Given the description of an element on the screen output the (x, y) to click on. 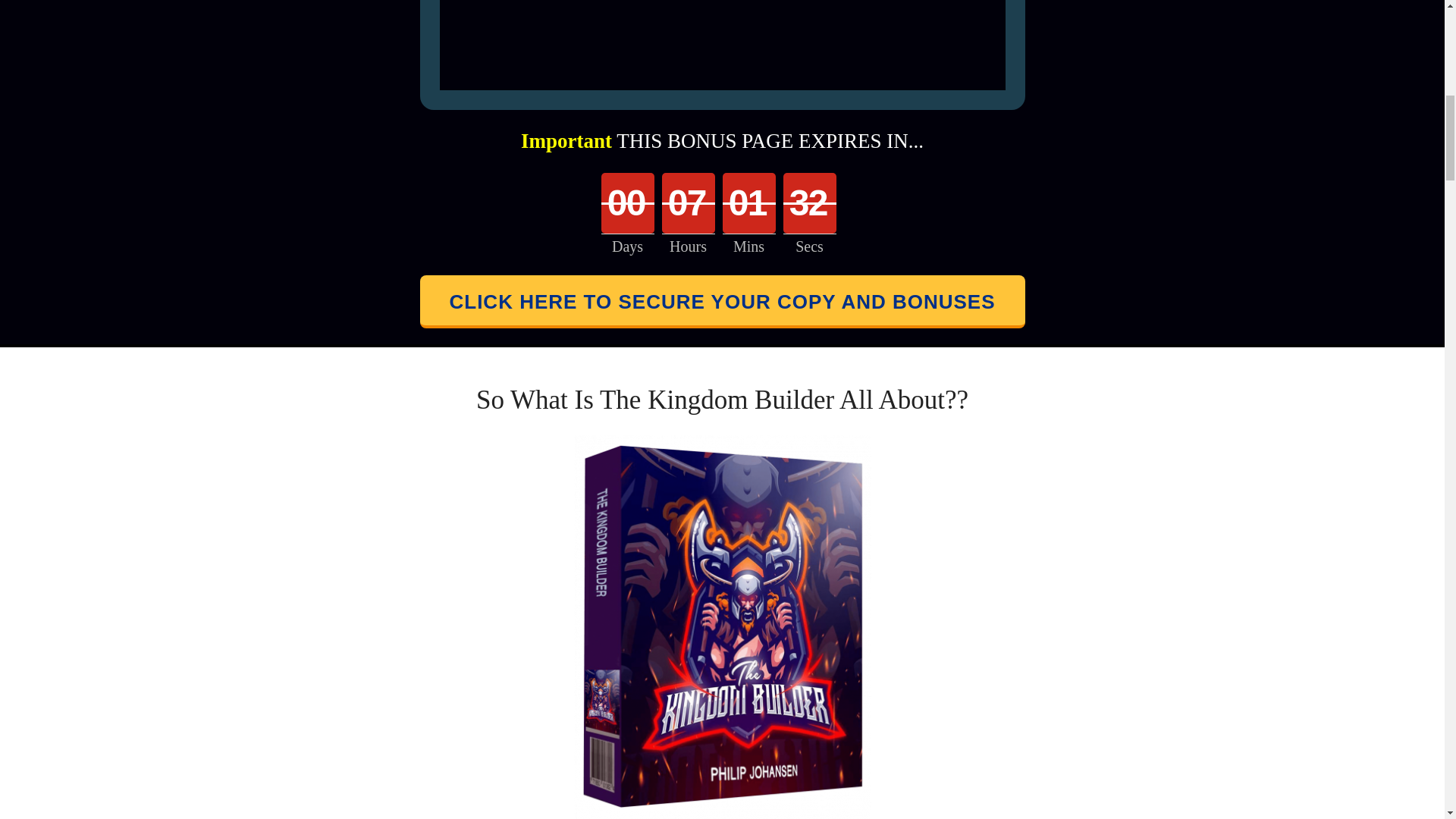
CLICK HERE TO SECURE YOUR COPY AND BONUSES (722, 301)
